Given the description of an element on the screen output the (x, y) to click on. 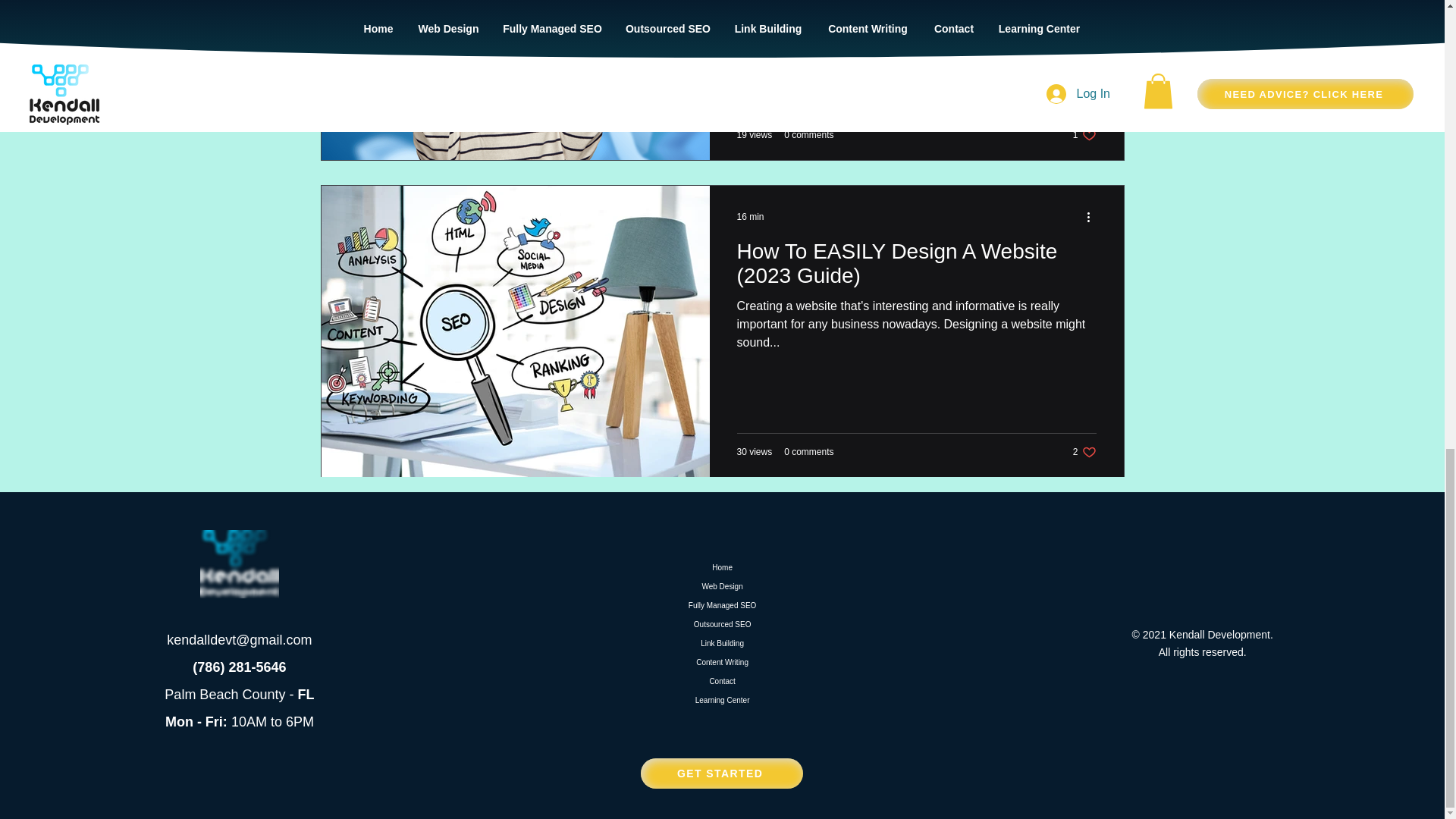
Outsourced SEO (1084, 452)
16 min (722, 624)
Link Building (750, 216)
Web Design (722, 642)
0 comments (722, 586)
Learning Center (808, 451)
Contact (722, 700)
0 comments (722, 681)
Content Writing (808, 134)
GET STARTED (722, 661)
Home (721, 773)
Fully Managed SEO (1084, 134)
